Given the description of an element on the screen output the (x, y) to click on. 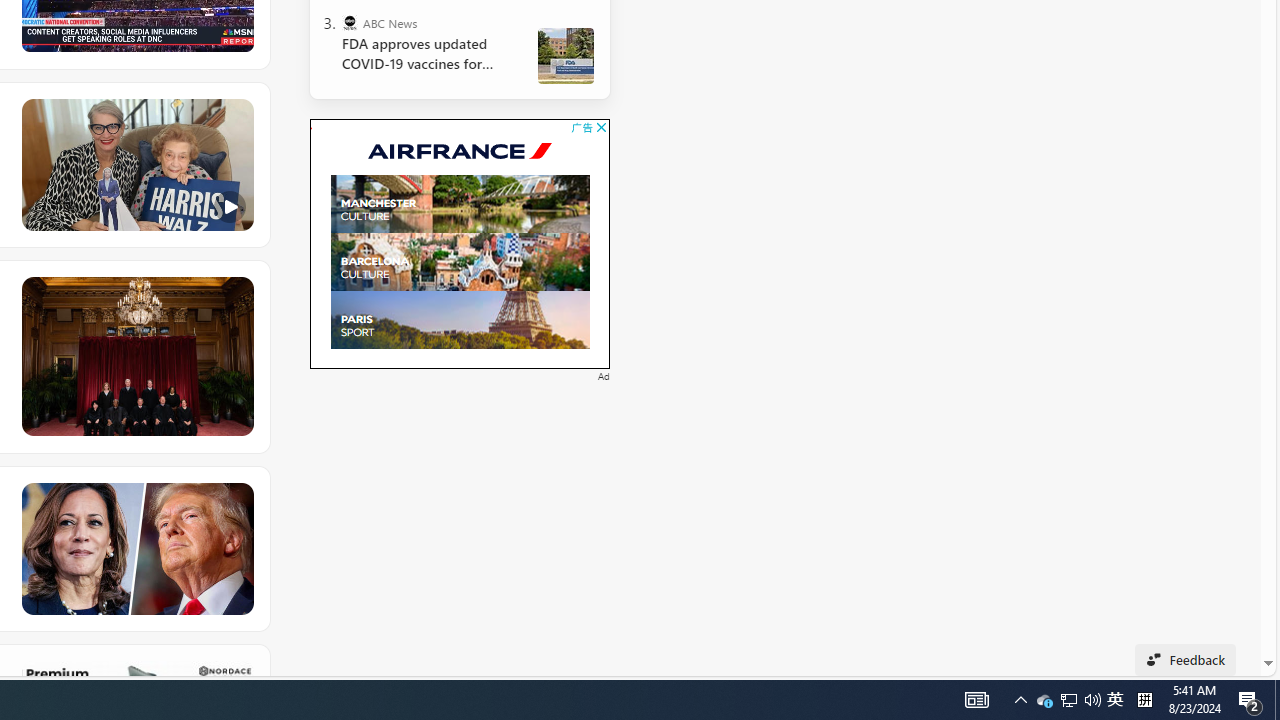
ABC News (349, 22)
To get missing image descriptions, open the context menu. (301, 129)
AutomationID: cbb (601, 127)
Class: hero-image (136, 165)
